Given the description of an element on the screen output the (x, y) to click on. 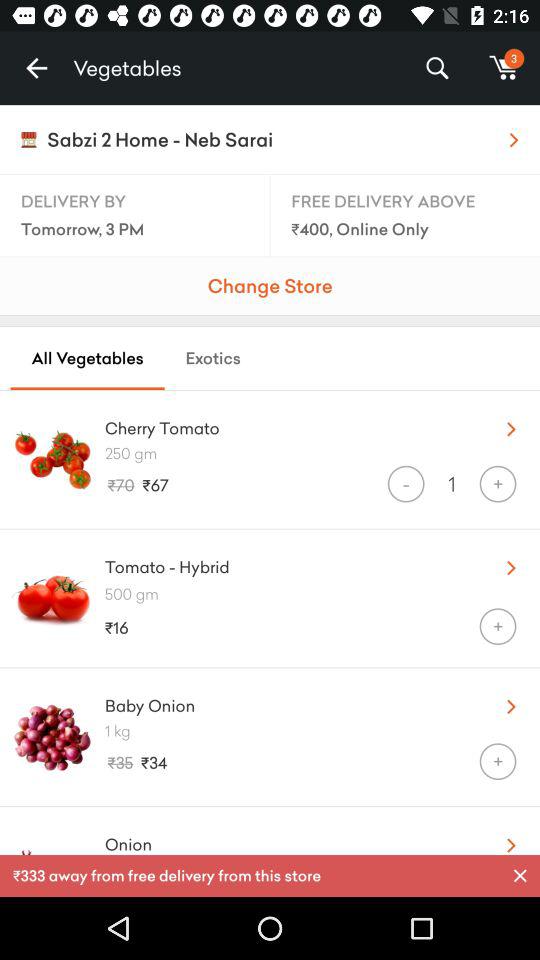
scroll until the + icon (497, 483)
